Given the description of an element on the screen output the (x, y) to click on. 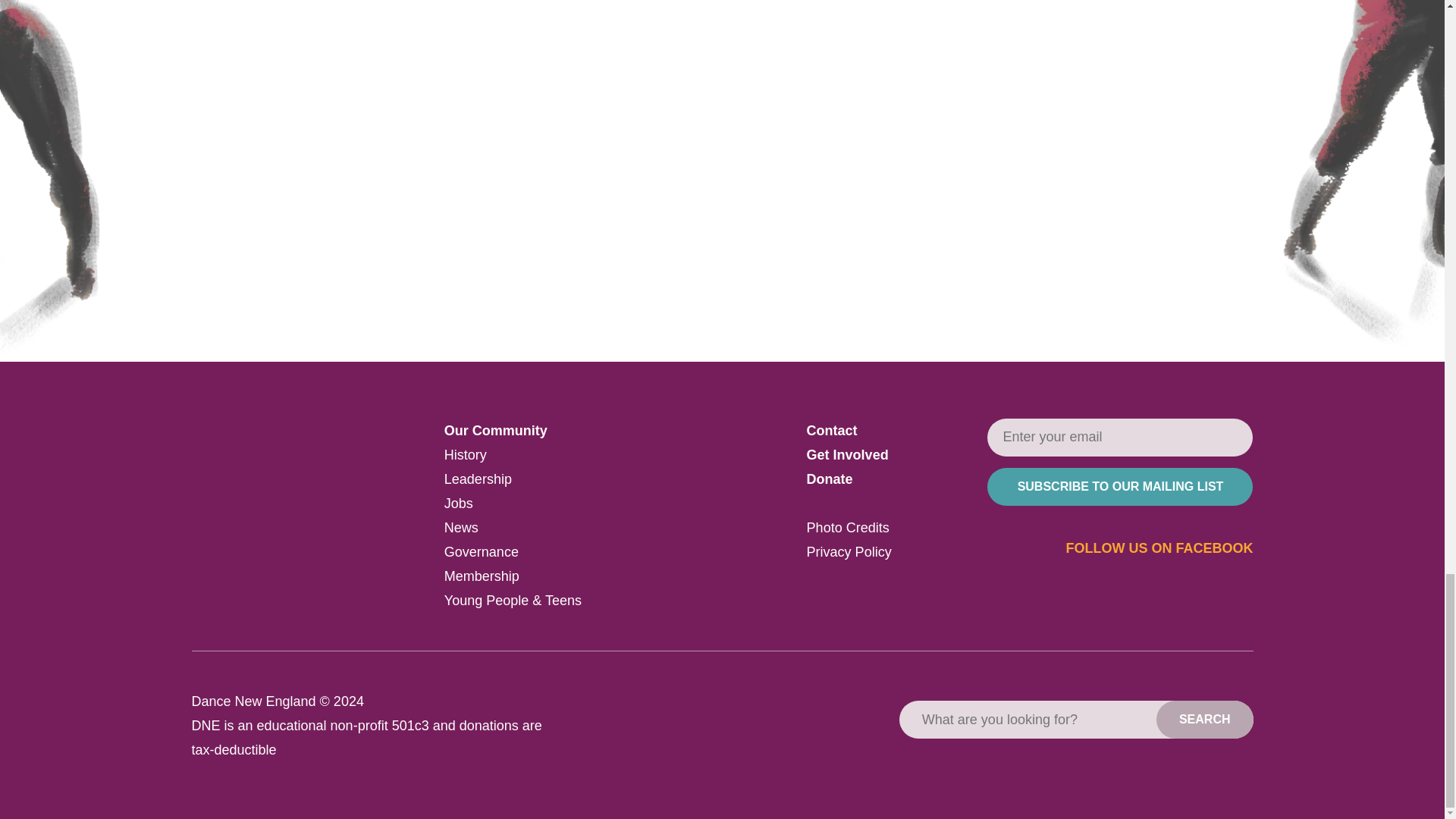
Donate (829, 478)
Contact (831, 430)
History (465, 454)
News (461, 527)
Get Involved (847, 454)
Leadership (478, 478)
Membership (481, 575)
Governance (481, 551)
Jobs (458, 503)
Our Community (495, 430)
